Given the description of an element on the screen output the (x, y) to click on. 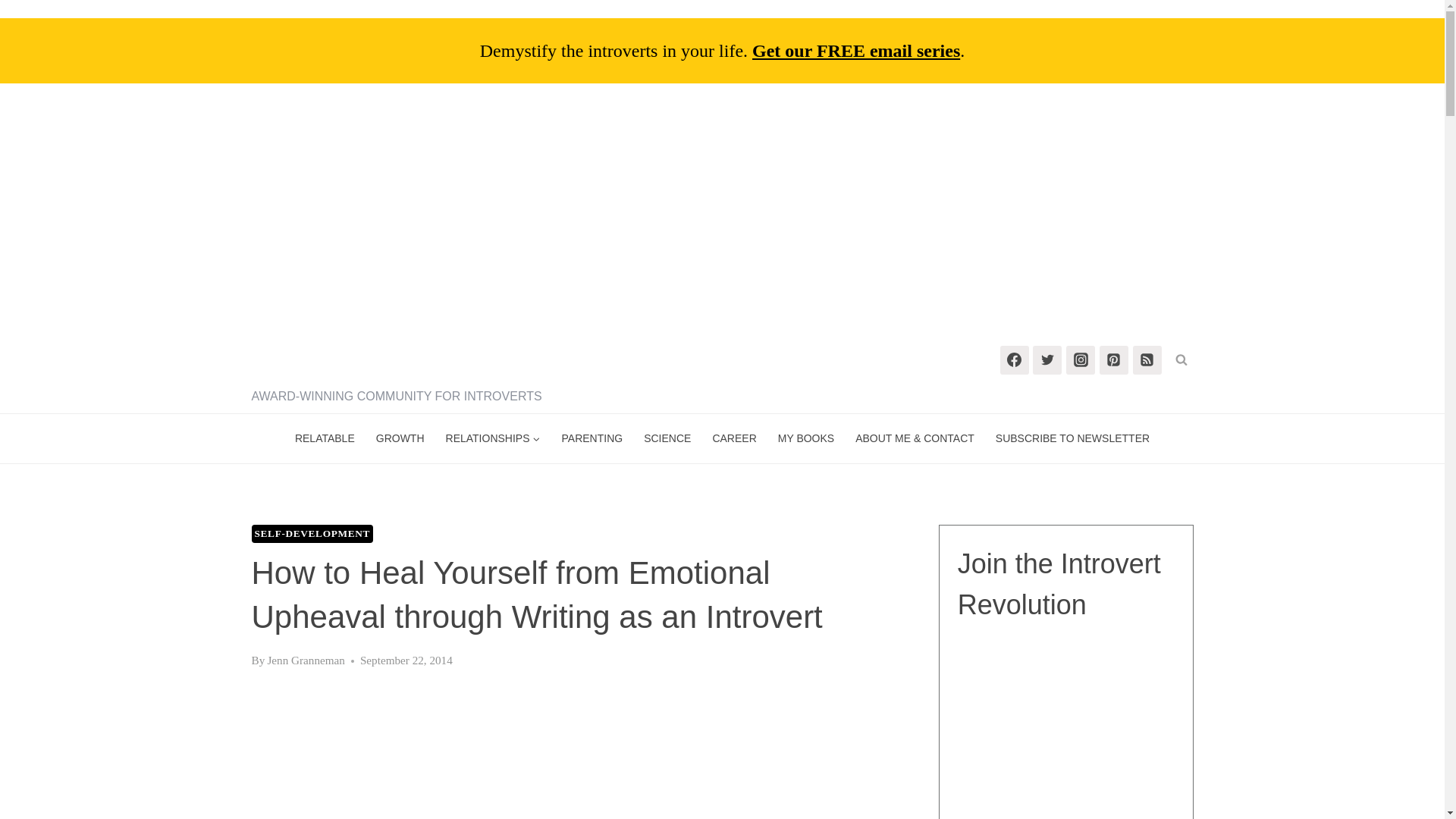
MY BOOKS (805, 438)
RELATABLE (324, 438)
PARENTING (592, 438)
AWARD-WINNING COMMUNITY FOR INTROVERTS (396, 357)
SUBSCRIBE TO NEWSLETTER (1072, 438)
CAREER (734, 438)
GROWTH (400, 438)
SCIENCE (667, 438)
Jenn Granneman (304, 659)
Get our FREE email series (855, 50)
